Given the description of an element on the screen output the (x, y) to click on. 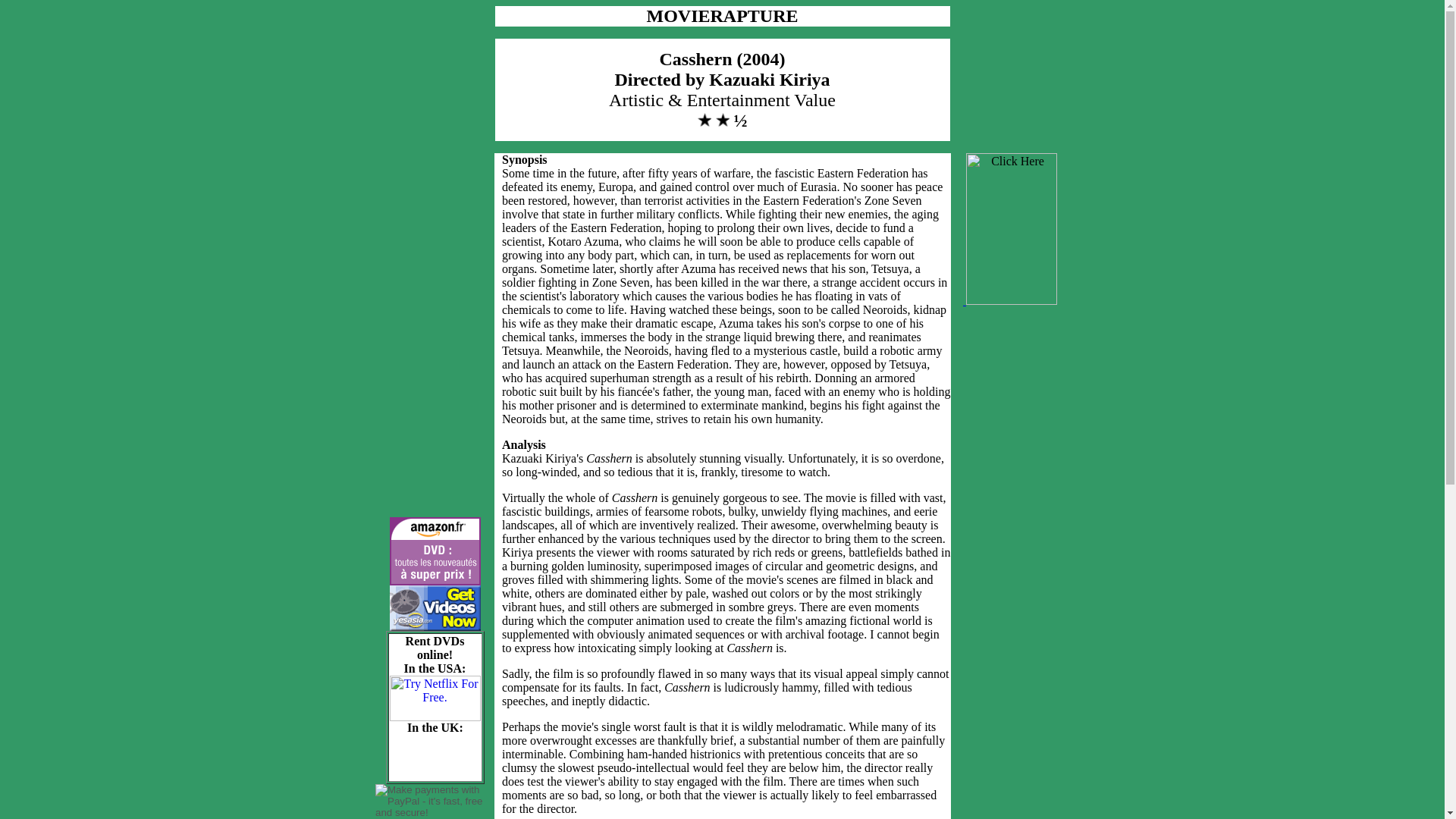
MOVIERAPTURE (721, 17)
